Given the description of an element on the screen output the (x, y) to click on. 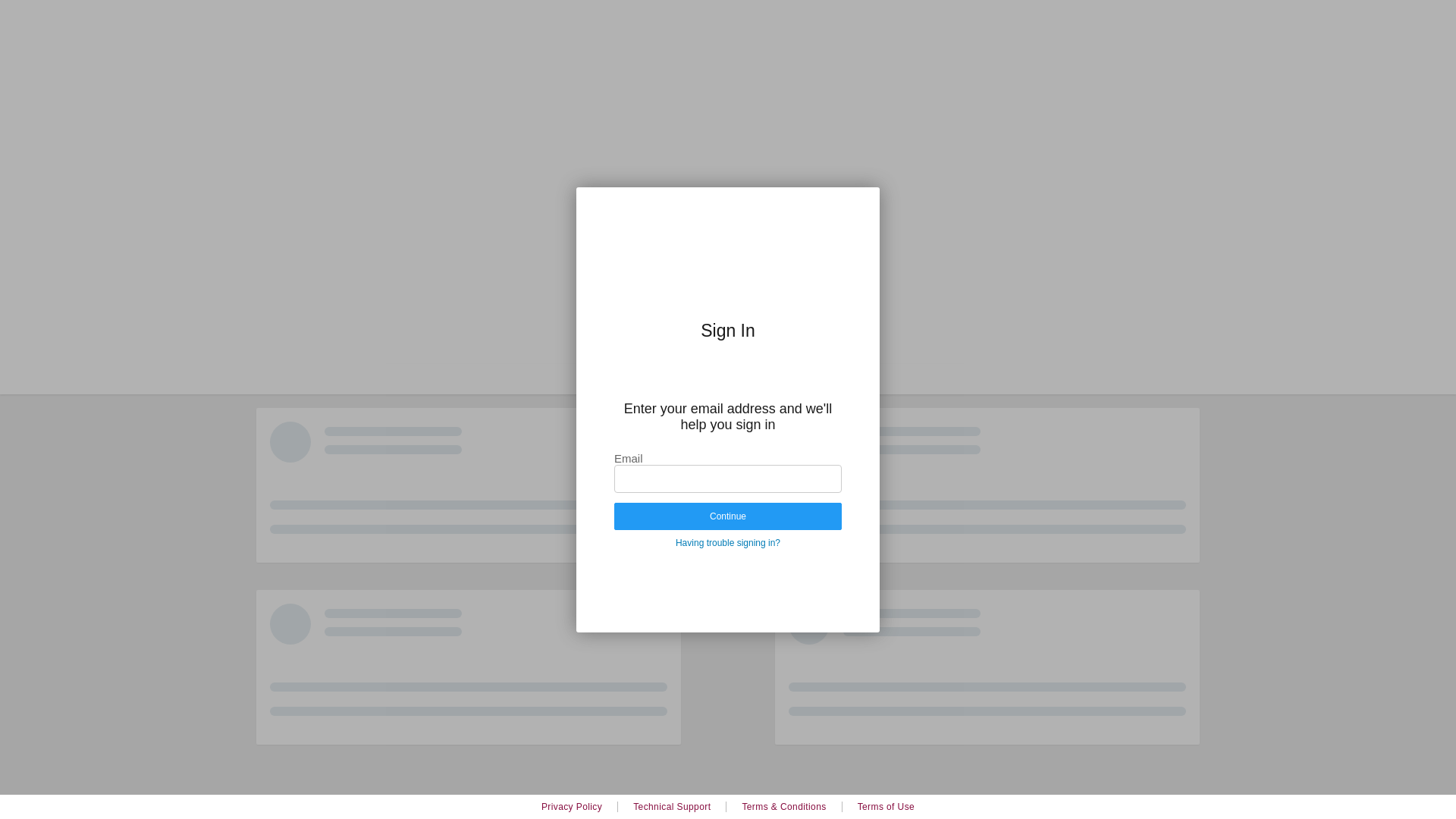
Privacy Policy Element type: text (571, 806)
Continue Element type: text (727, 516)
Having trouble signing in? Element type: text (727, 542)
Terms of Use Element type: text (885, 806)
Technical Support Element type: text (671, 806)
Terms & Conditions Element type: text (783, 806)
